Given the description of an element on the screen output the (x, y) to click on. 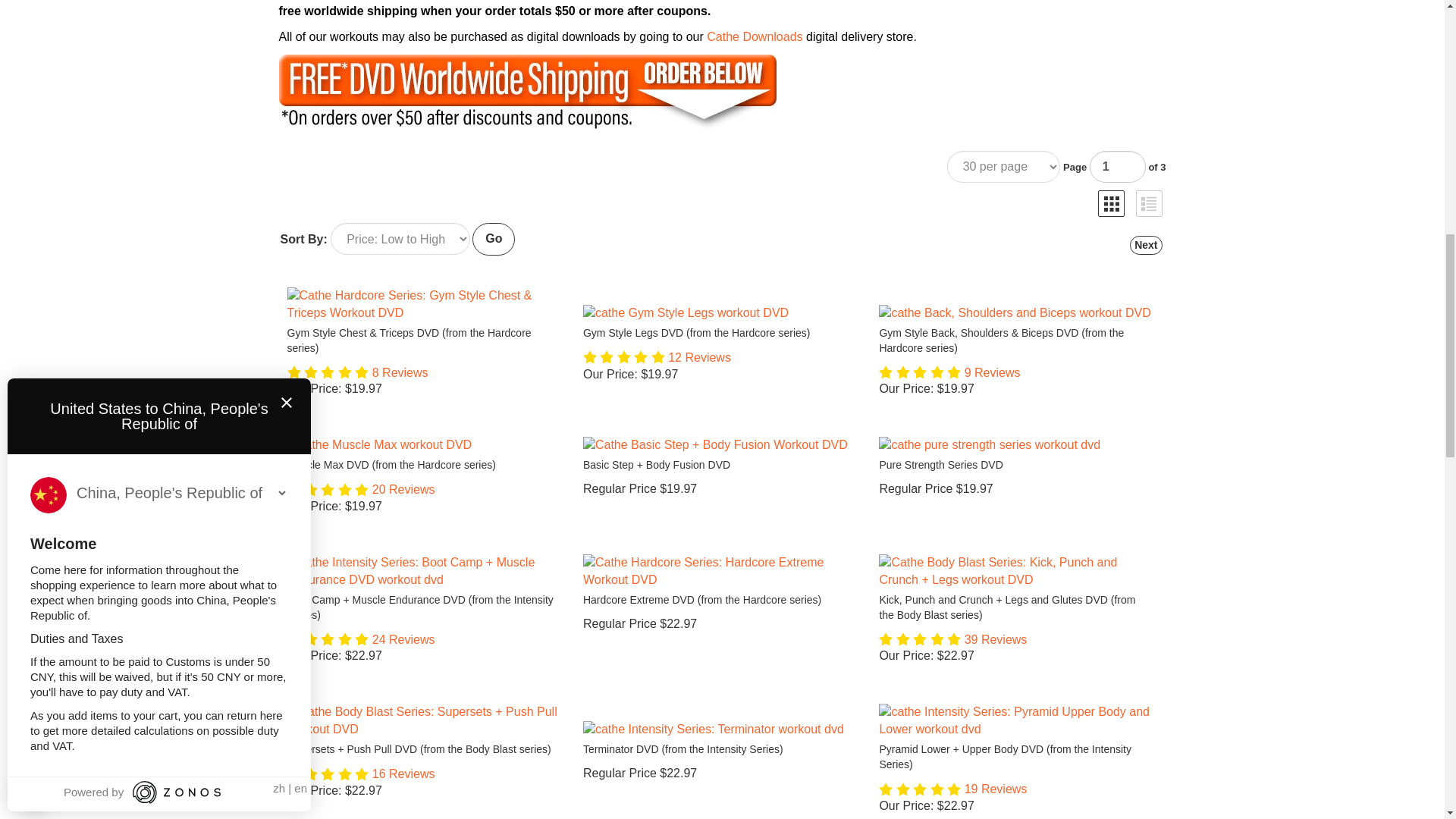
Go to page (1117, 166)
1 (1117, 166)
cathe Muscle Max workout DVD (422, 445)
cathe Gym Style Legs workout DVD (719, 313)
cathe Back, Shoulders and Biceps workout DVD (1015, 313)
Sort By: (400, 238)
Digital Downloads (754, 36)
